Given the description of an element on the screen output the (x, y) to click on. 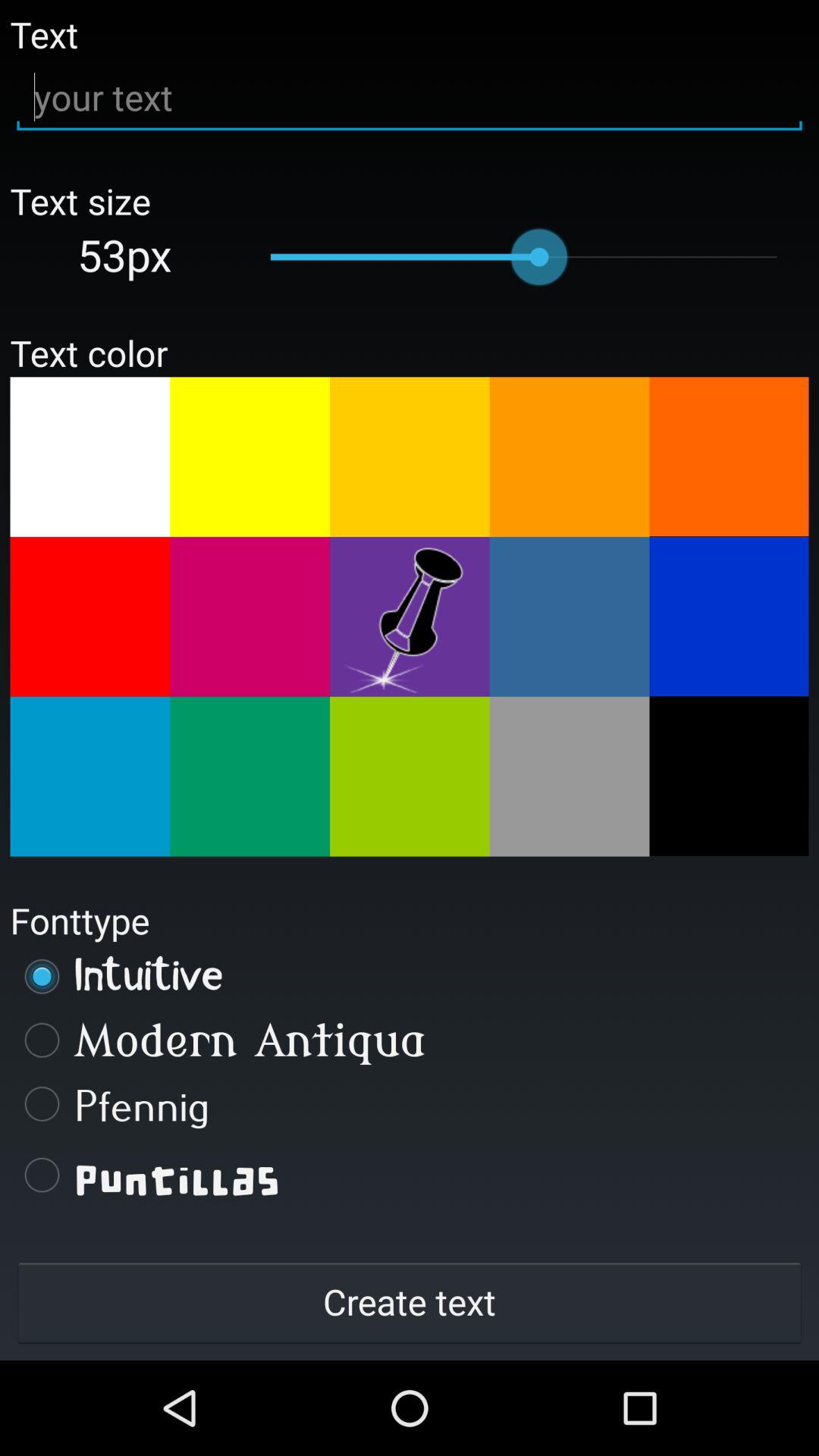
turn on puntillas (409, 1174)
